Given the description of an element on the screen output the (x, y) to click on. 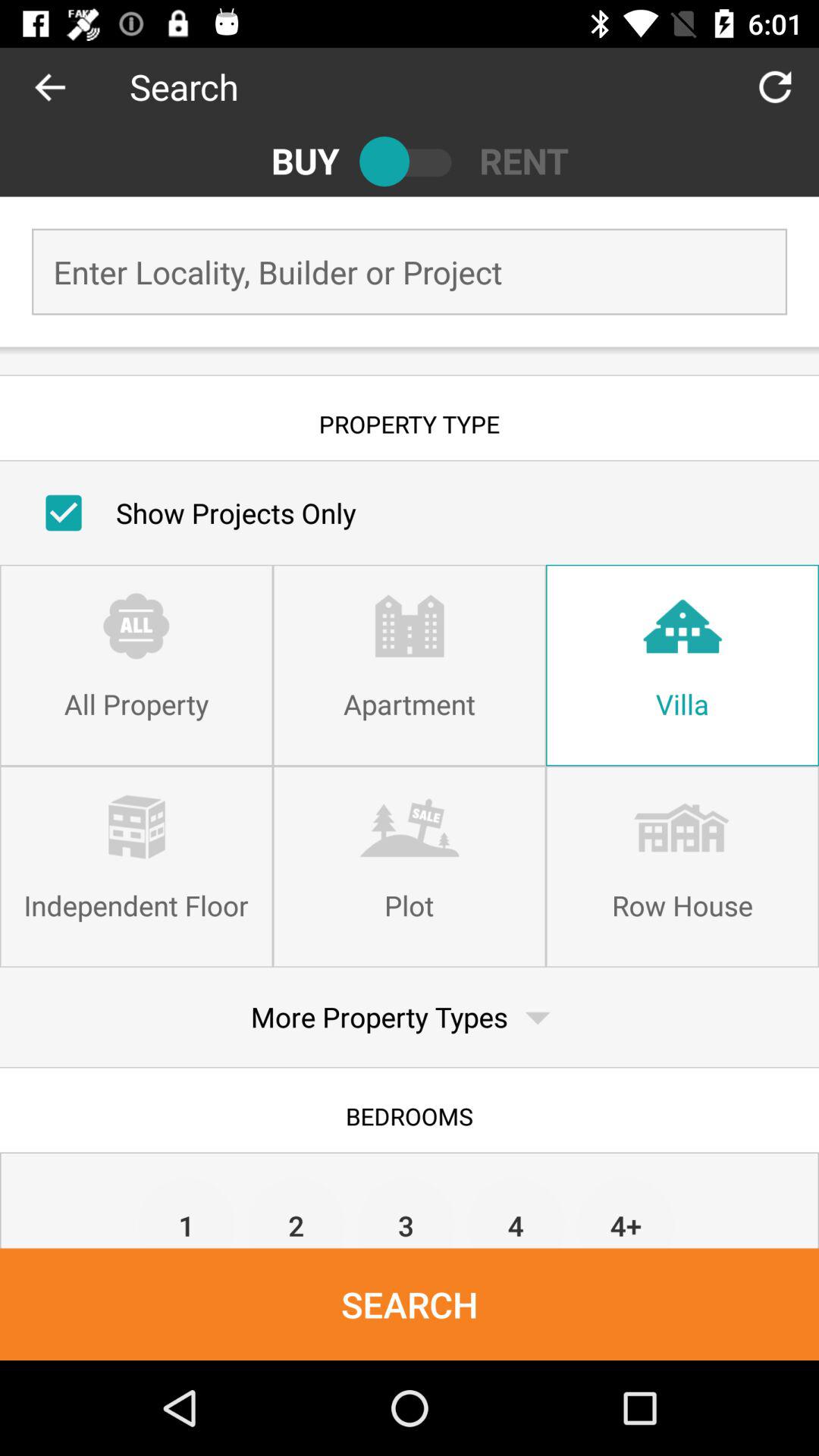
choose the item to the right of the search icon (775, 86)
